Given the description of an element on the screen output the (x, y) to click on. 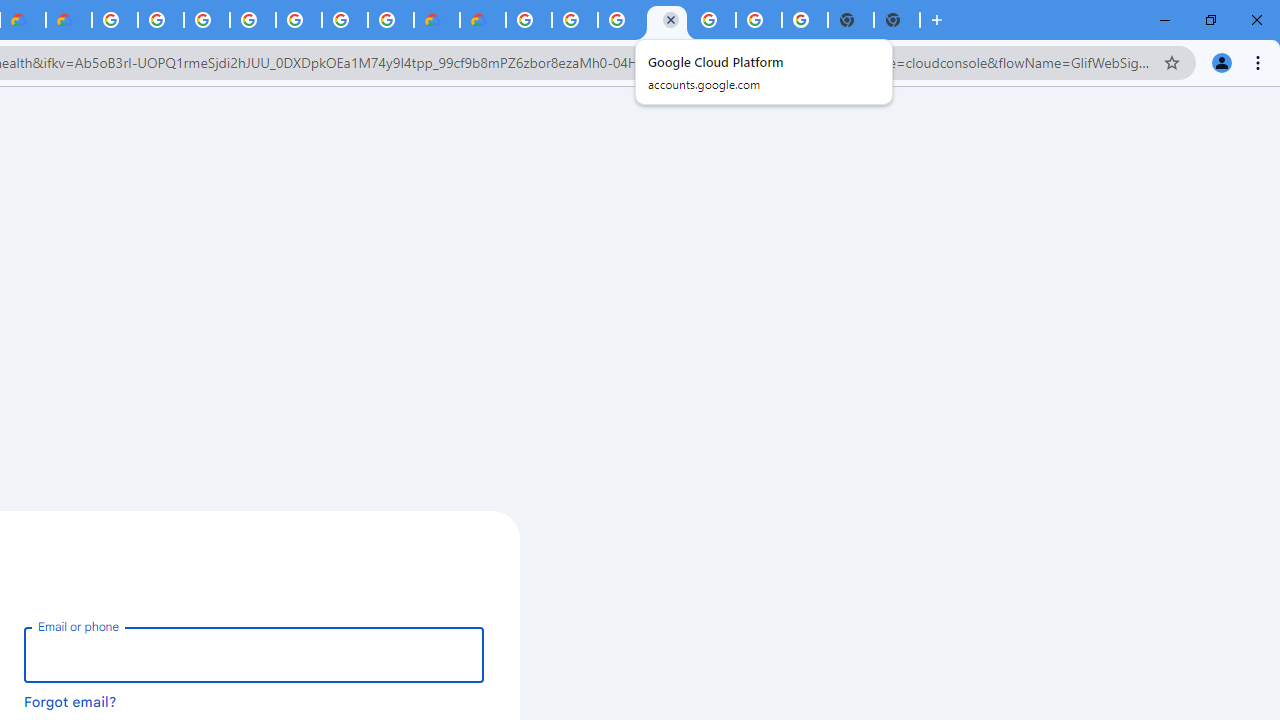
Browse Chrome as a guest - Computer - Google Chrome Help (574, 20)
New Tab (897, 20)
Forgot email? (70, 701)
Google Cloud Platform (345, 20)
Google Cloud Platform (666, 20)
